Given the description of an element on the screen output the (x, y) to click on. 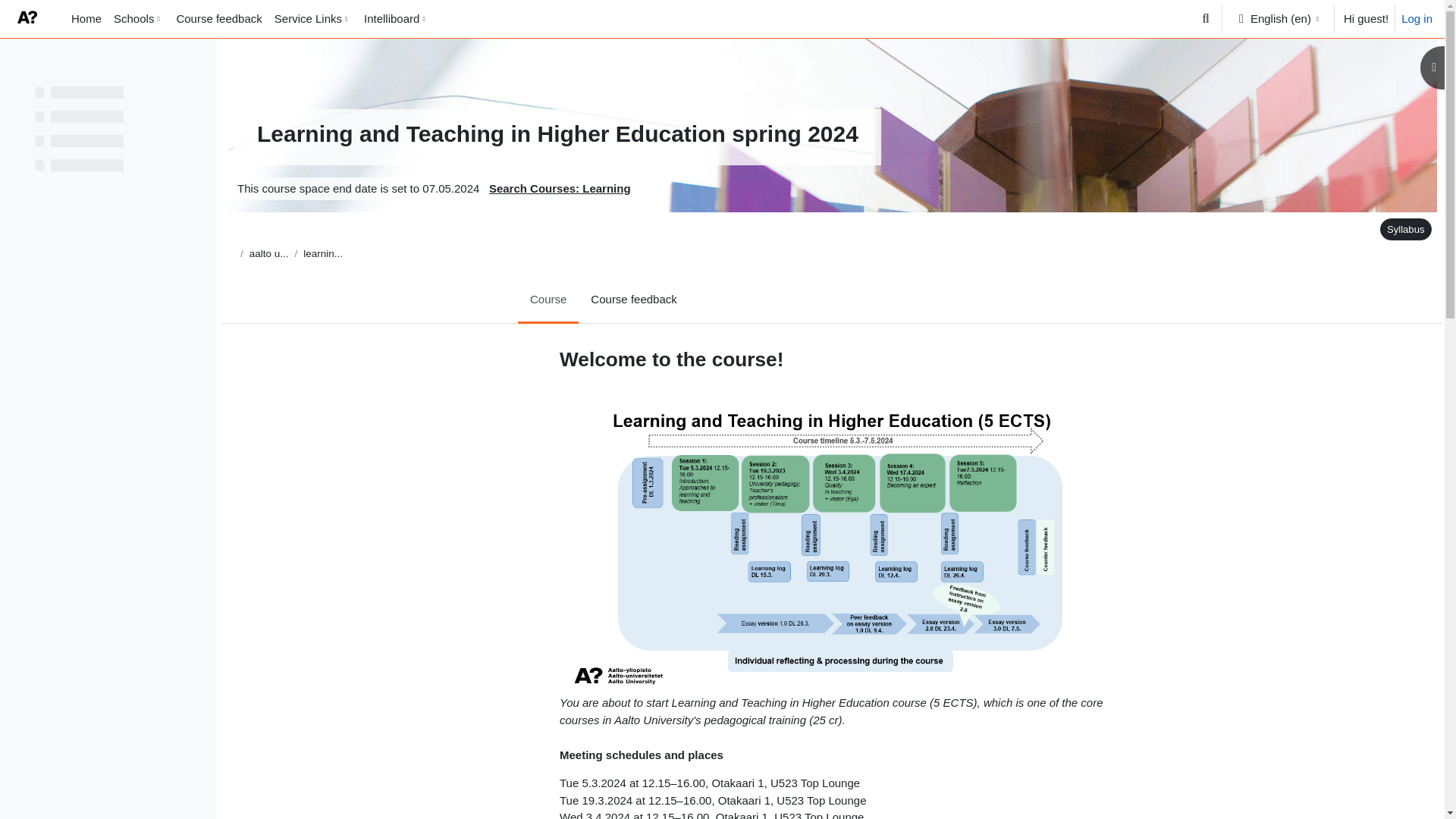
View course syllabus (1402, 229)
Course feedback (218, 18)
Learning and Teaching in Higher Education spring 2024 (322, 253)
Home (86, 18)
Service Links (312, 18)
Syllabus (1405, 229)
Schools (138, 18)
